Given the description of an element on the screen output the (x, y) to click on. 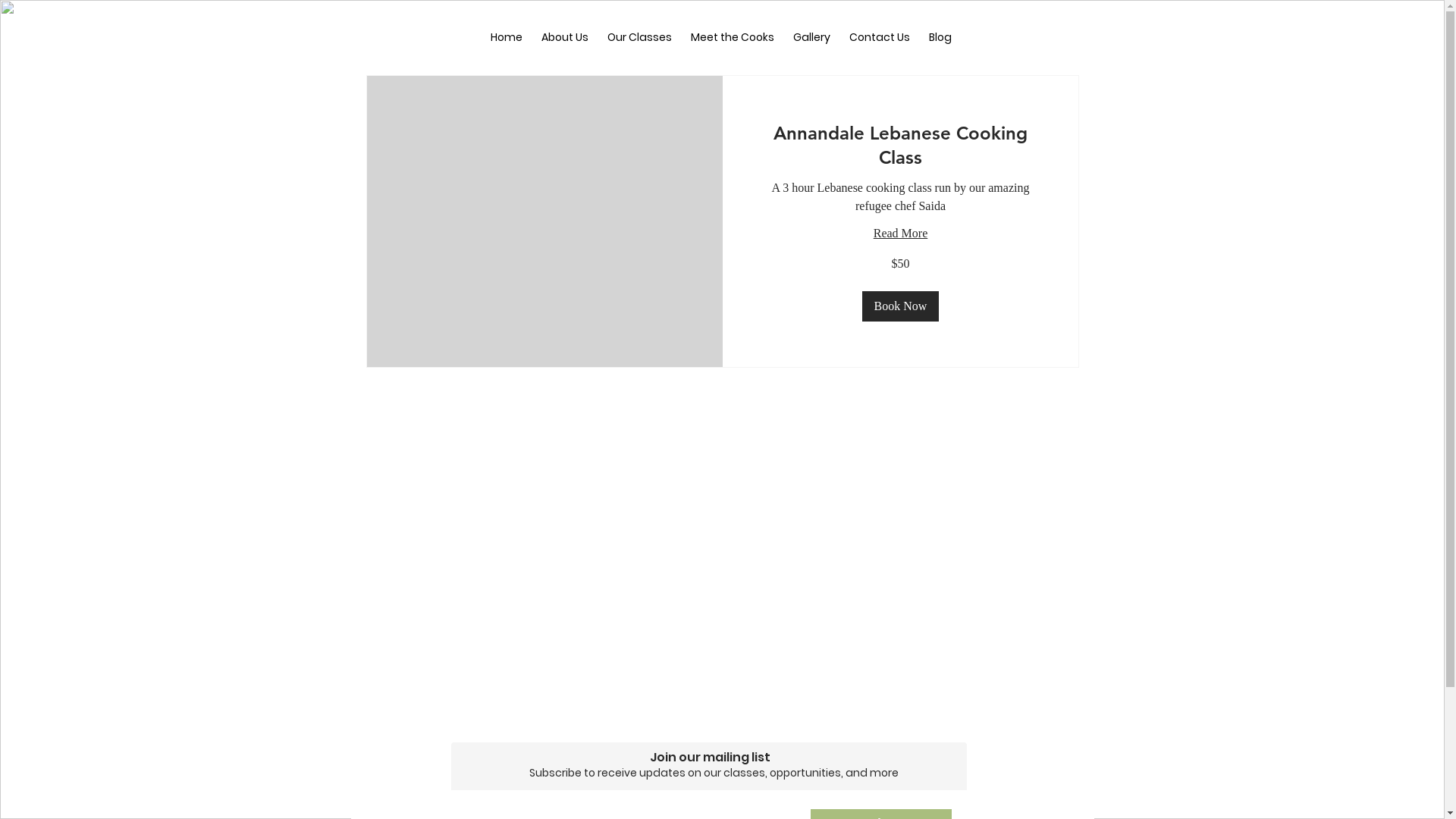
Gallery Element type: text (812, 37)
Book Now Element type: text (899, 306)
Contact Us Element type: text (879, 37)
Home Element type: text (505, 37)
Meet the Cooks Element type: text (731, 37)
Blog Element type: text (939, 37)
About Us Element type: text (565, 37)
Annandale Lebanese Cooking Class Element type: text (899, 145)
Read More Element type: text (899, 233)
